Given the description of an element on the screen output the (x, y) to click on. 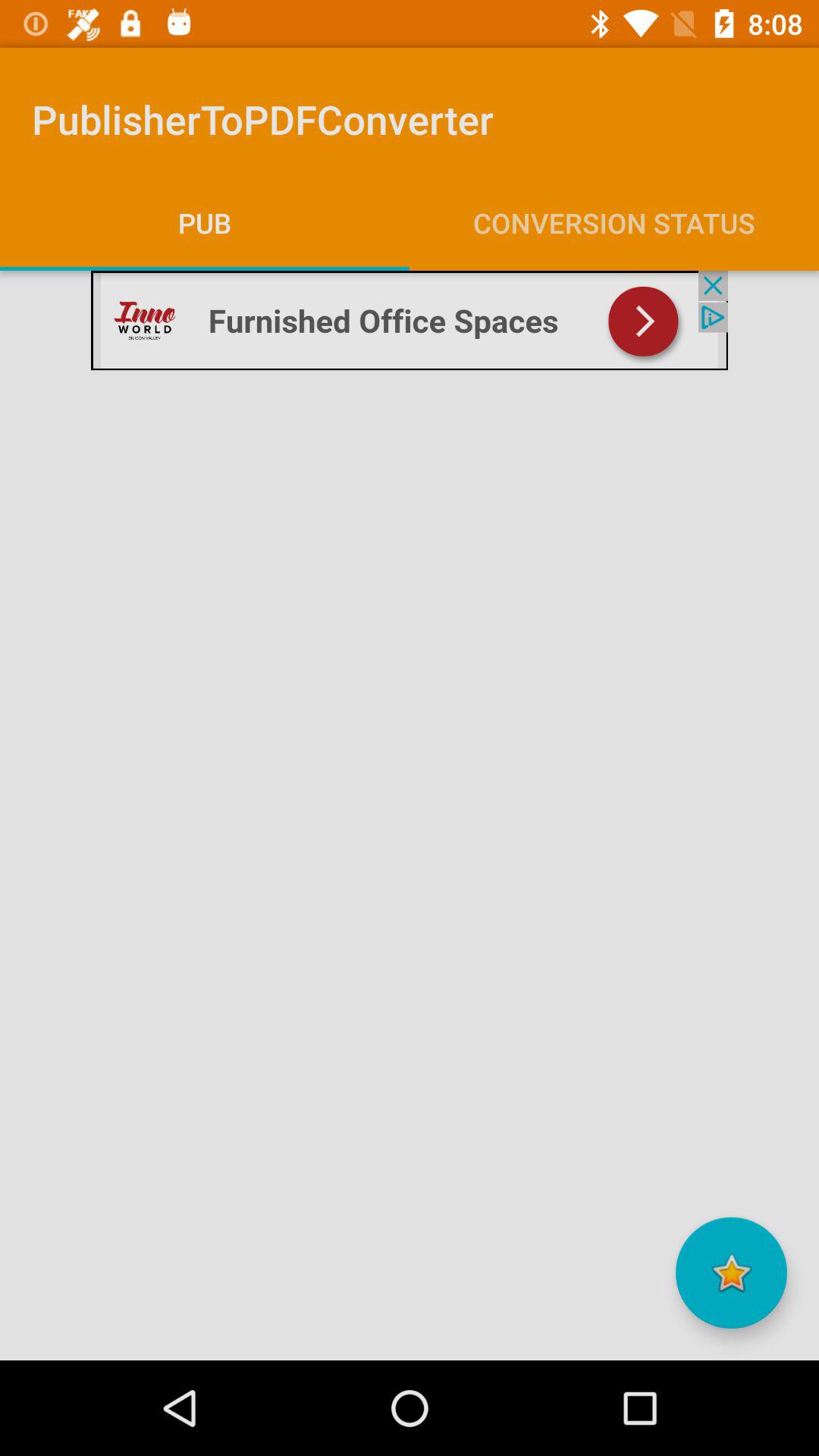
favourite (731, 1272)
